Given the description of an element on the screen output the (x, y) to click on. 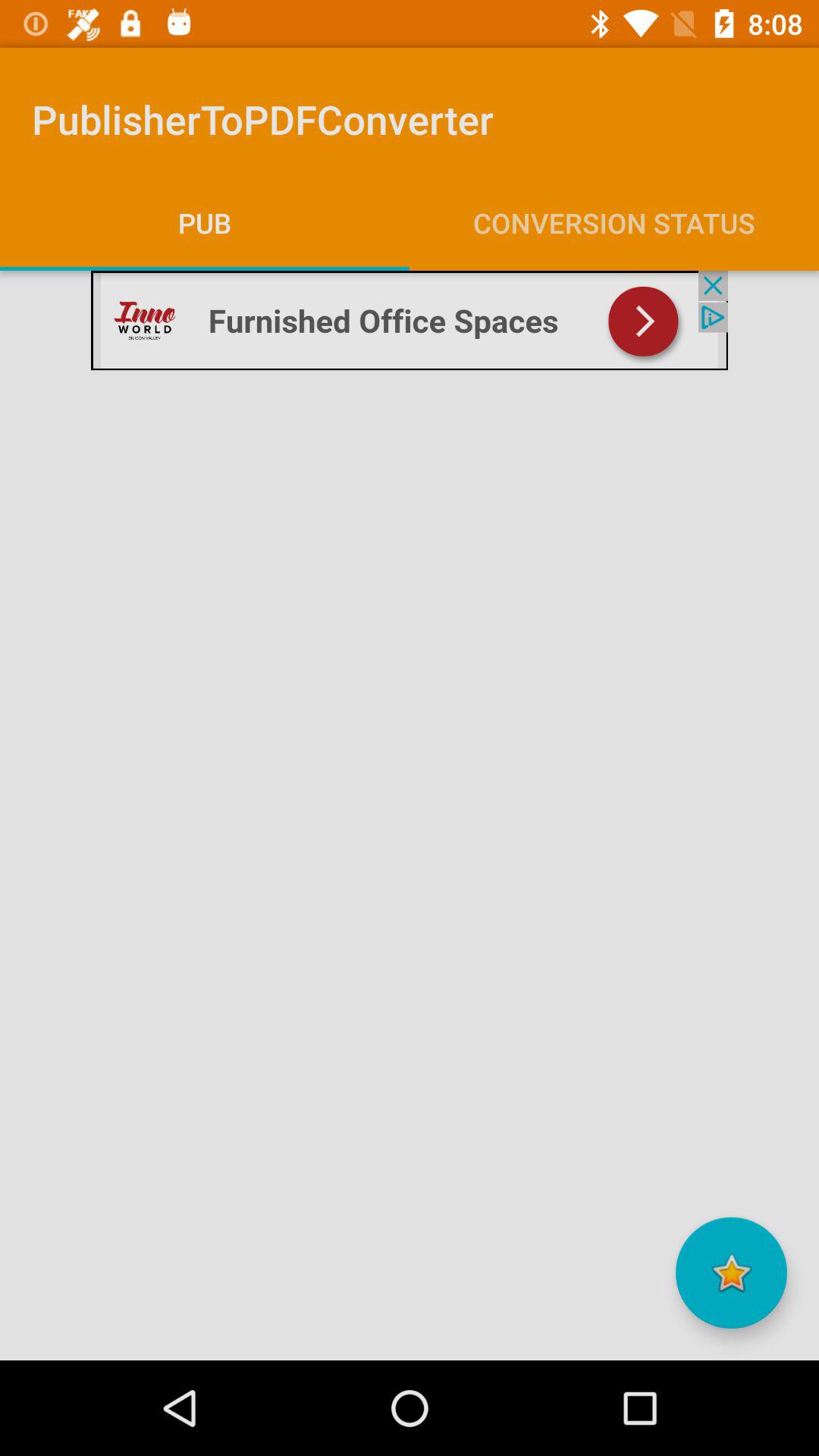
favourite (731, 1272)
